Given the description of an element on the screen output the (x, y) to click on. 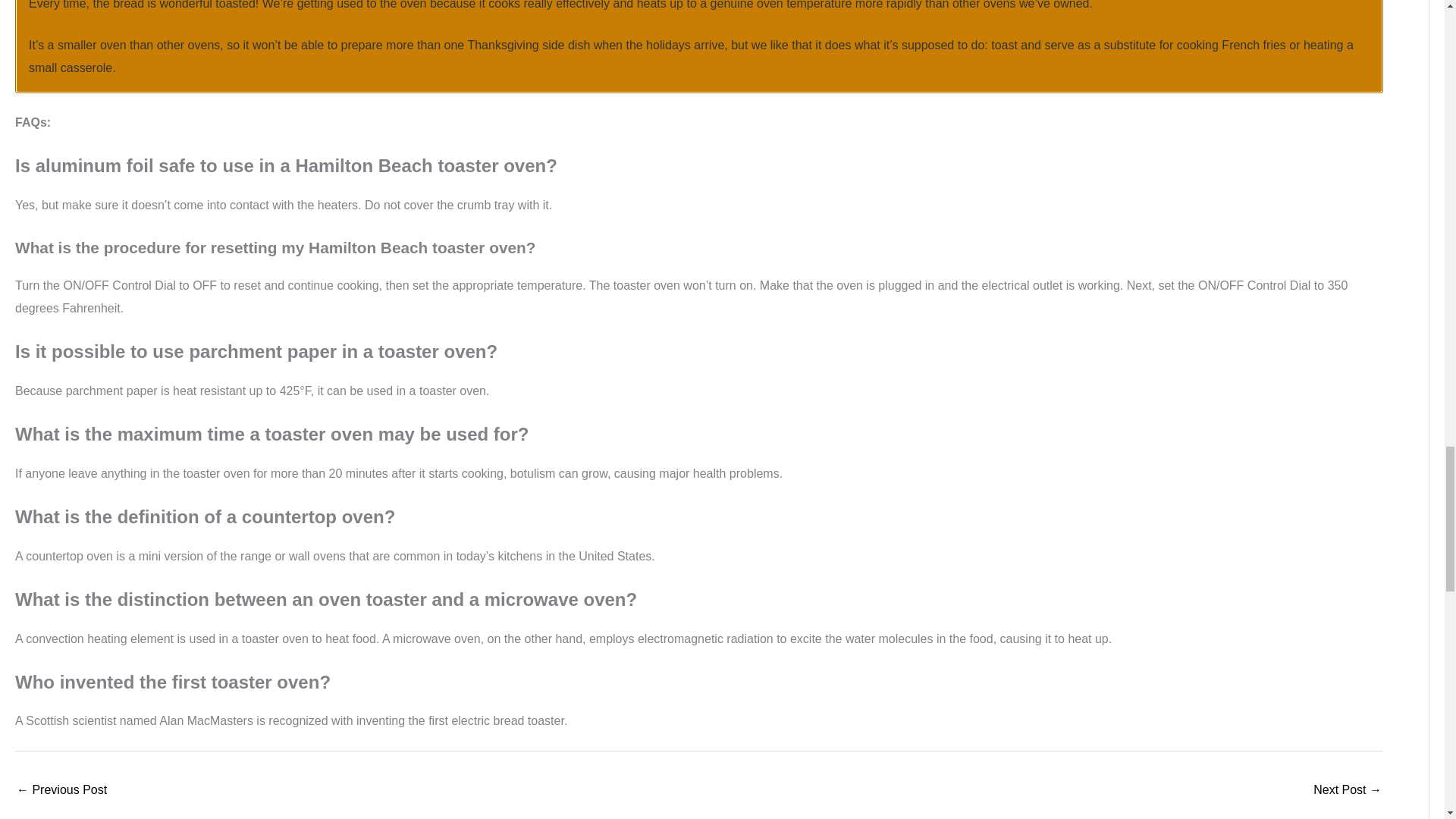
Panasonic Toaster Oven FlashXpress (61, 791)
